Given the description of an element on the screen output the (x, y) to click on. 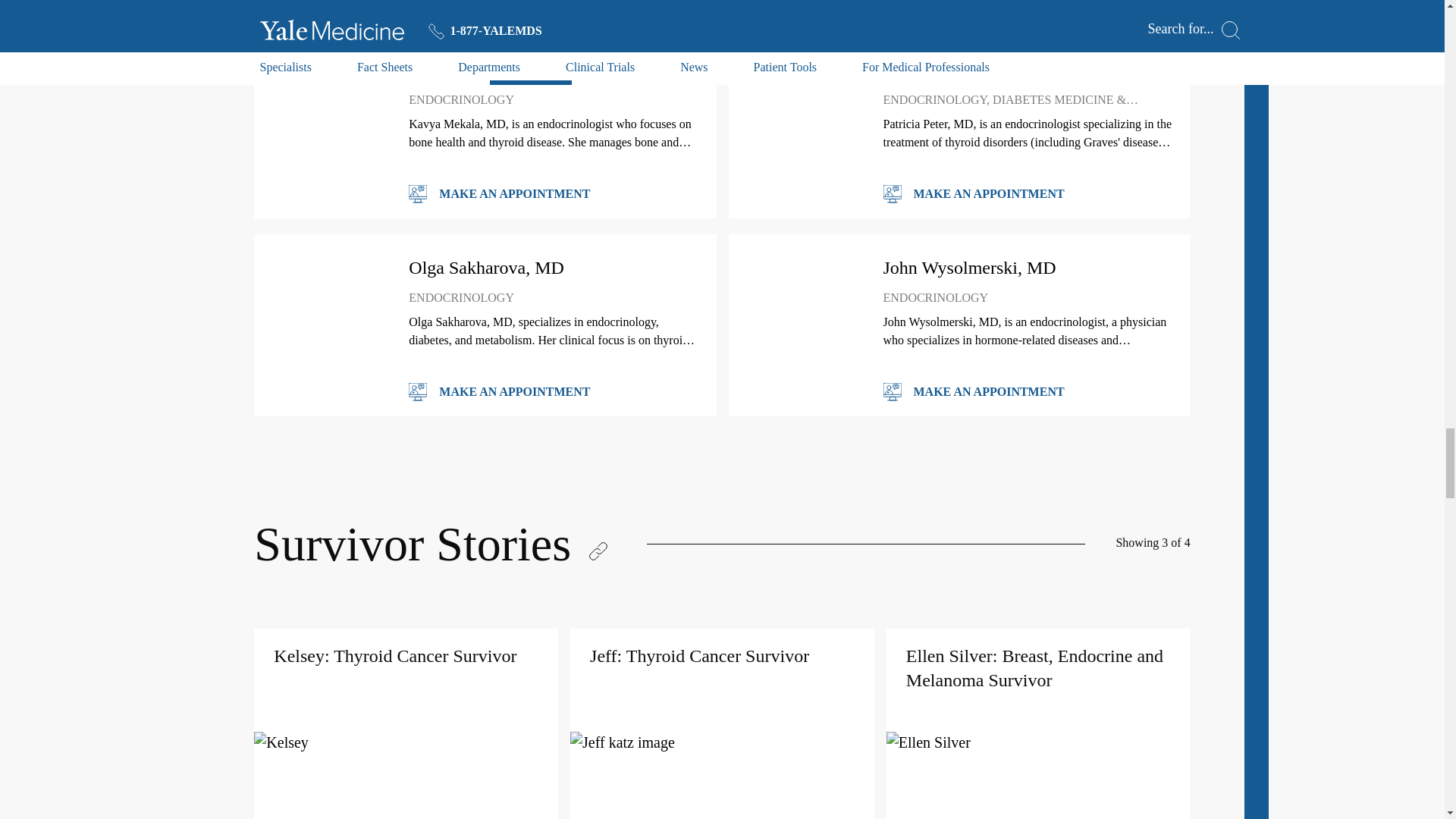
Kelsey (405, 742)
Jeff katz (722, 742)
